Given the description of an element on the screen output the (x, y) to click on. 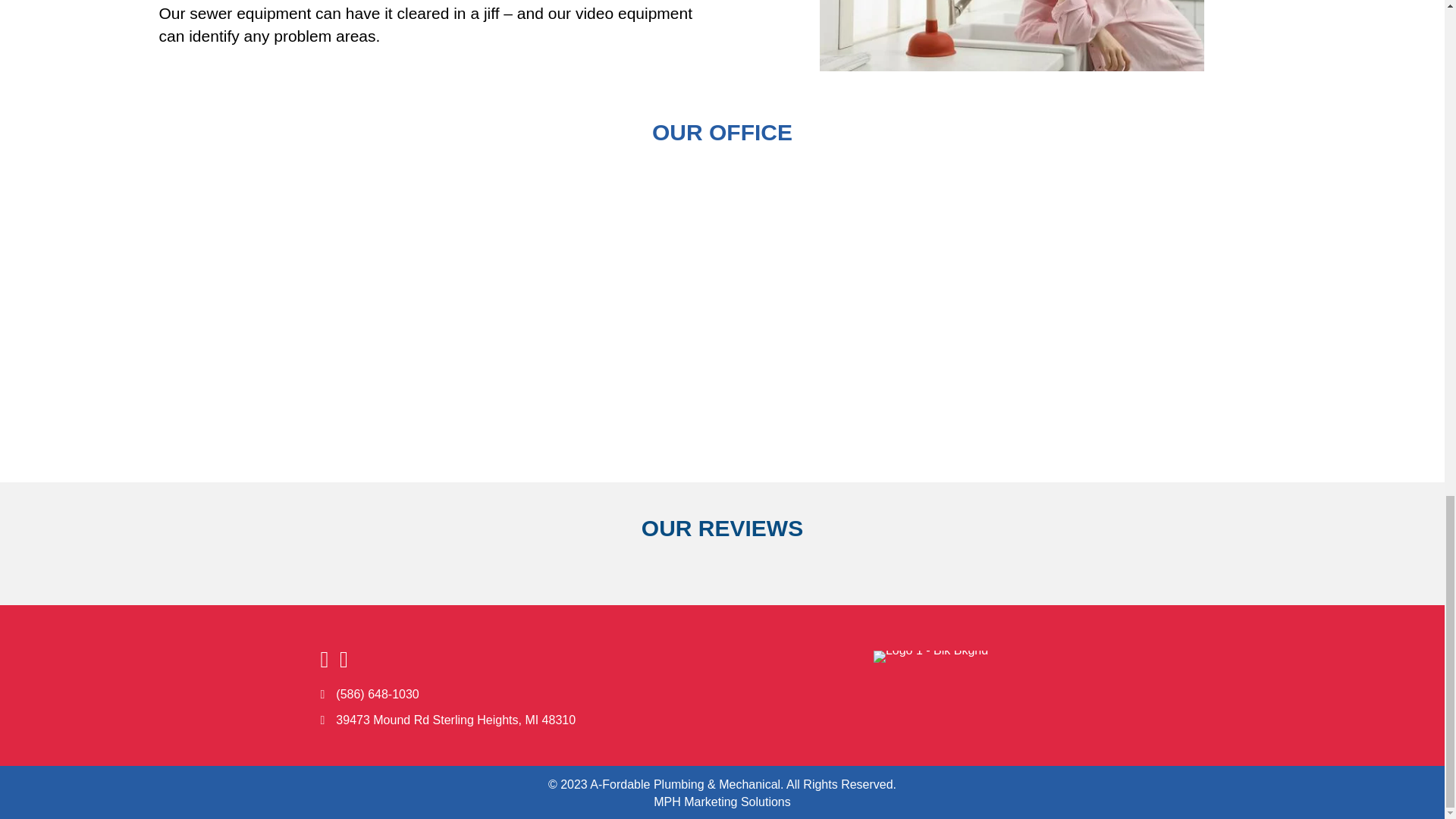
Logo 1 - Blk Bkgnd (930, 656)
clogged drain customer (1011, 35)
MPH Marketing Solutions (721, 801)
